Given the description of an element on the screen output the (x, y) to click on. 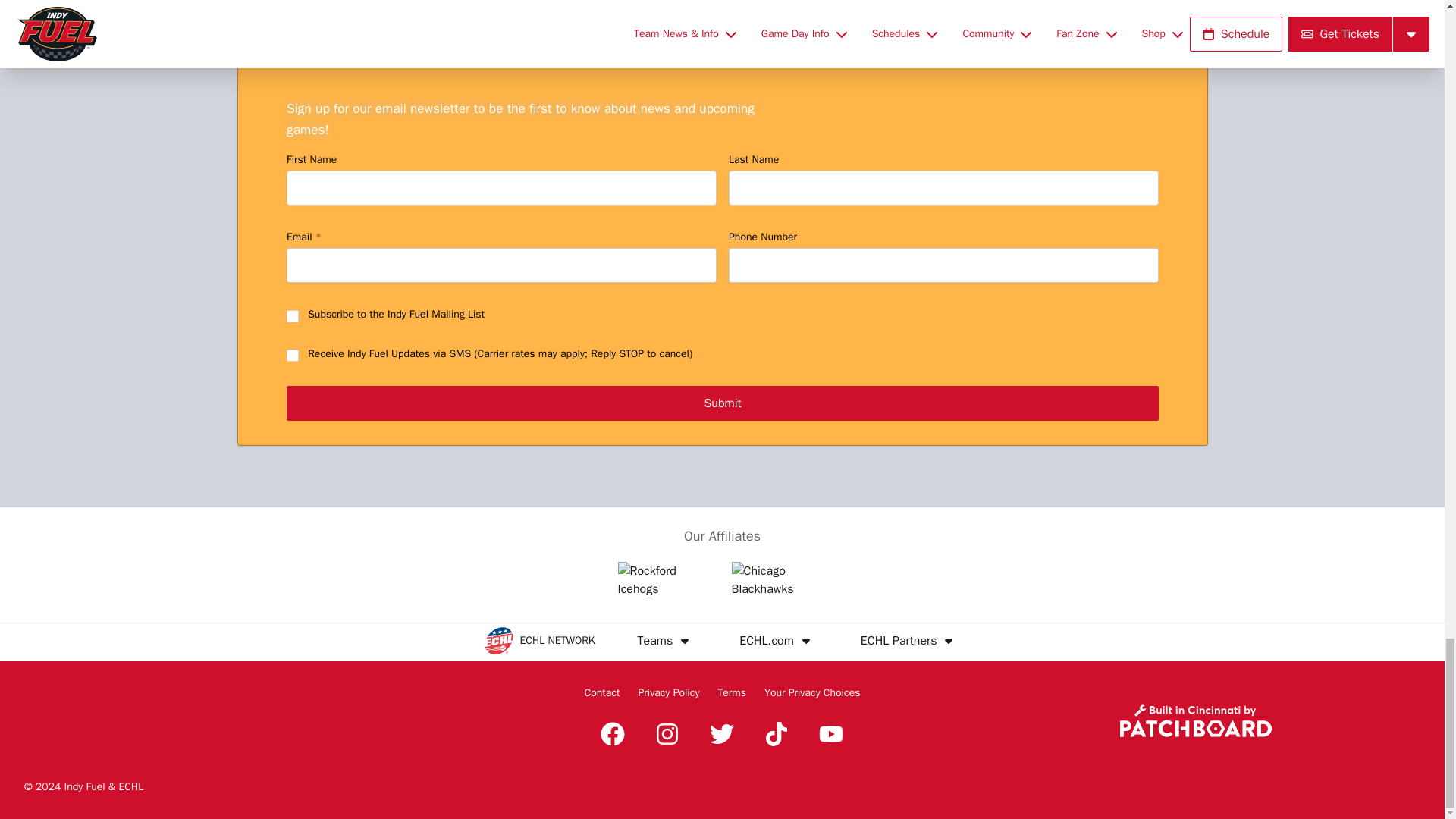
TikTok (776, 733)
Instagram (667, 733)
Built in Cincinnati by Patchboard (1195, 720)
Facebook (612, 733)
Twitter (721, 733)
on (292, 356)
YouTube (830, 733)
on (292, 316)
